Given the description of an element on the screen output the (x, y) to click on. 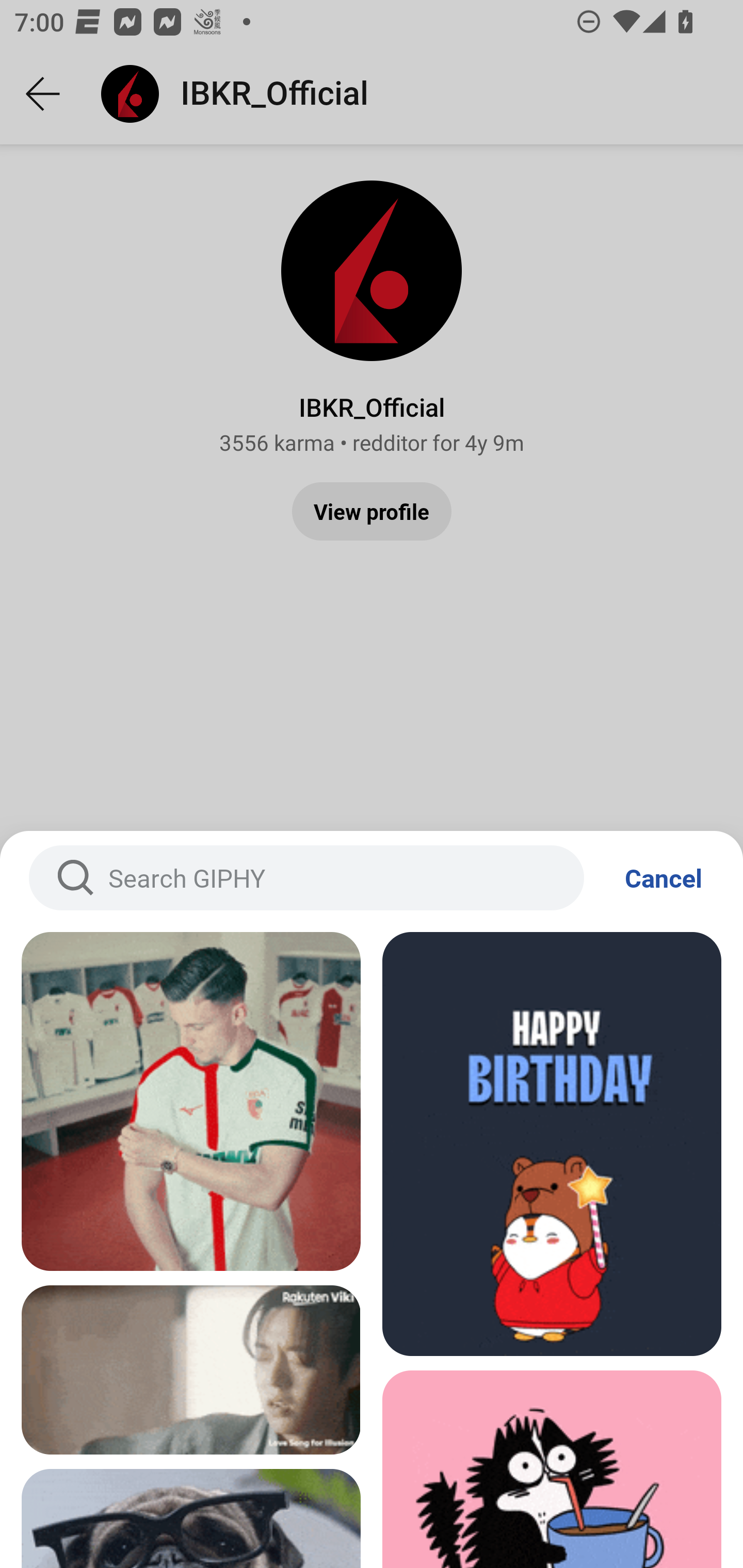
Search GIPHY (305, 878)
Cancel (663, 878)
Gif (190, 1101)
Gif (551, 1143)
Gif (190, 1370)
Gif (551, 1469)
